Given the description of an element on the screen output the (x, y) to click on. 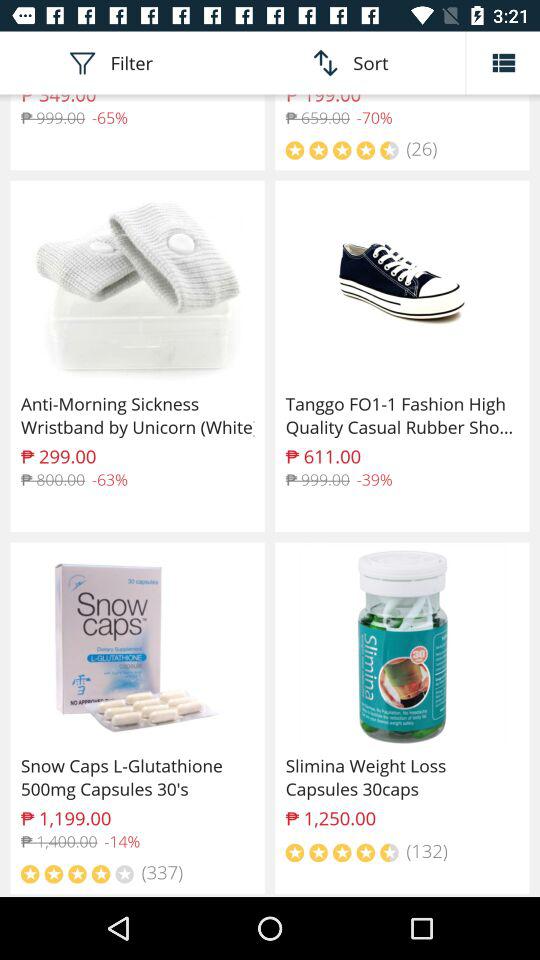
show checkboxes (503, 62)
